Given the description of an element on the screen output the (x, y) to click on. 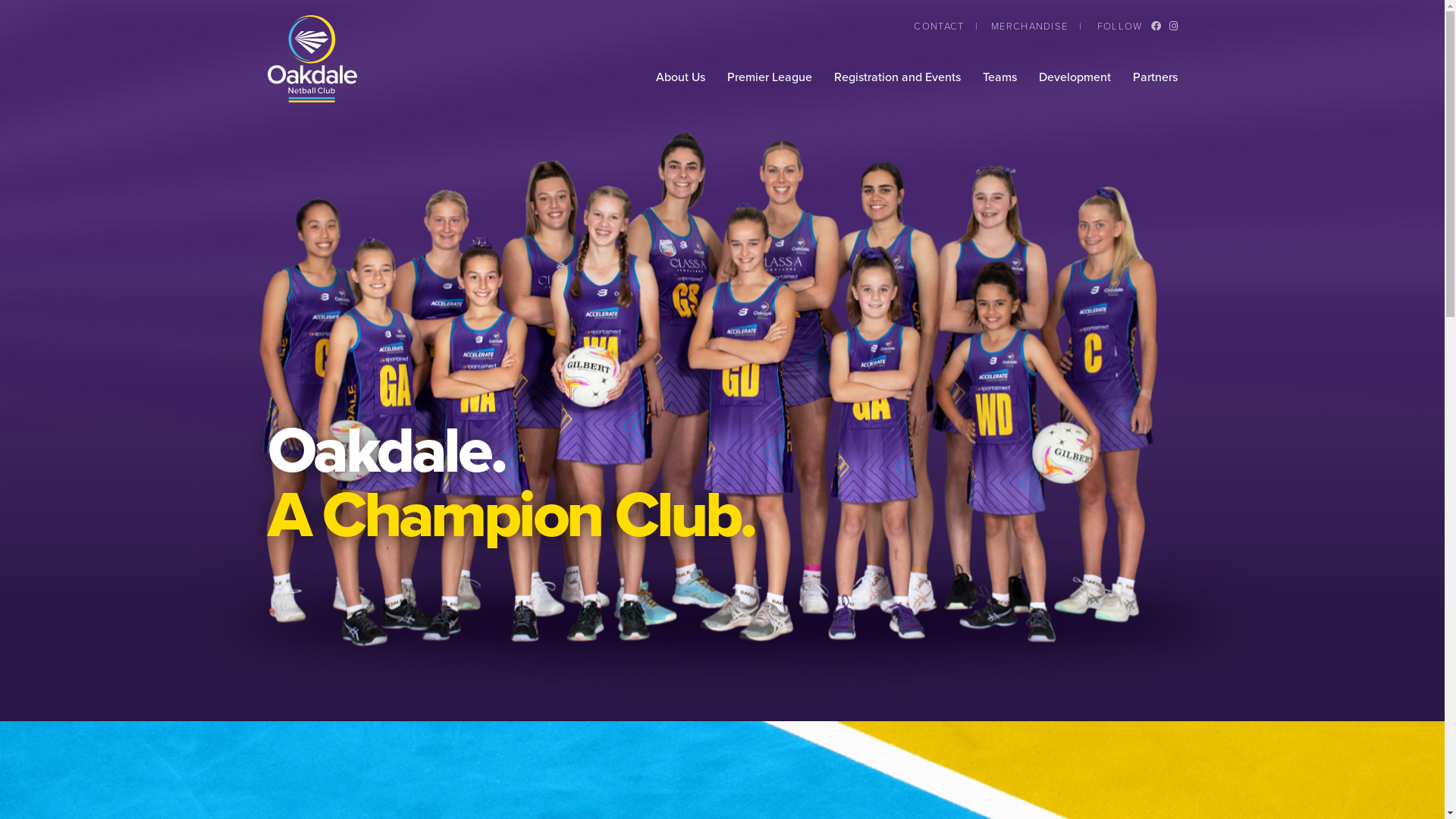
MERCHANDISE Element type: text (1029, 25)
Partners Element type: text (1154, 76)
CONTACT Element type: text (938, 25)
Registration and Events Element type: text (897, 76)
Development Element type: text (1074, 76)
Premier League Element type: text (768, 76)
Teams Element type: text (999, 76)
About Us Element type: text (679, 76)
